Given the description of an element on the screen output the (x, y) to click on. 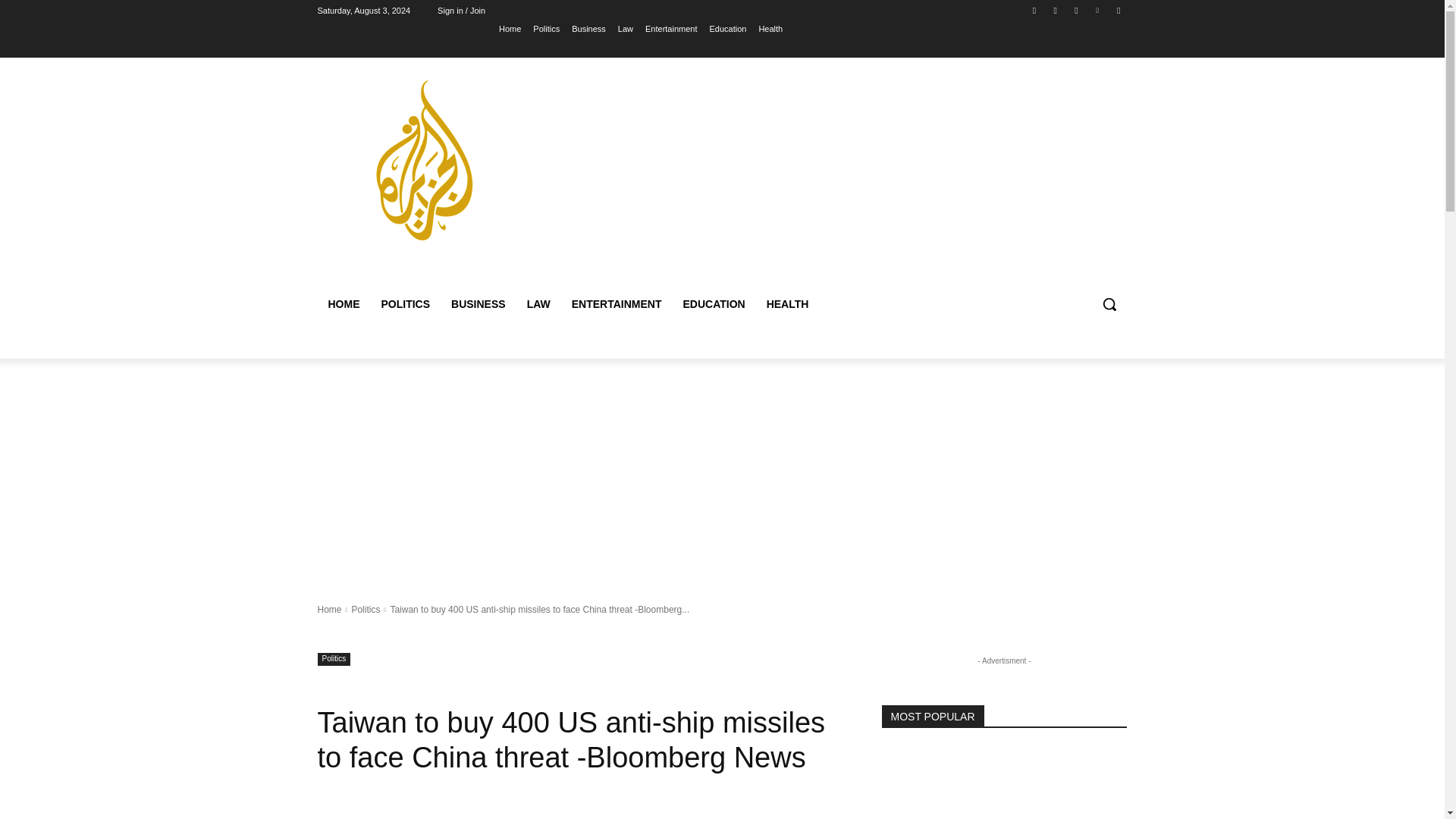
Home (328, 609)
BUSINESS (478, 303)
AlJazeera (326, 817)
Home (510, 28)
Business (588, 28)
HOME (343, 303)
ENTERTAINMENT (616, 303)
HEALTH (787, 303)
Youtube (1117, 9)
Education (727, 28)
Politics (333, 658)
EDUCATION (713, 303)
Twitter (1075, 9)
Politics (365, 609)
Vimeo (1097, 9)
